Given the description of an element on the screen output the (x, y) to click on. 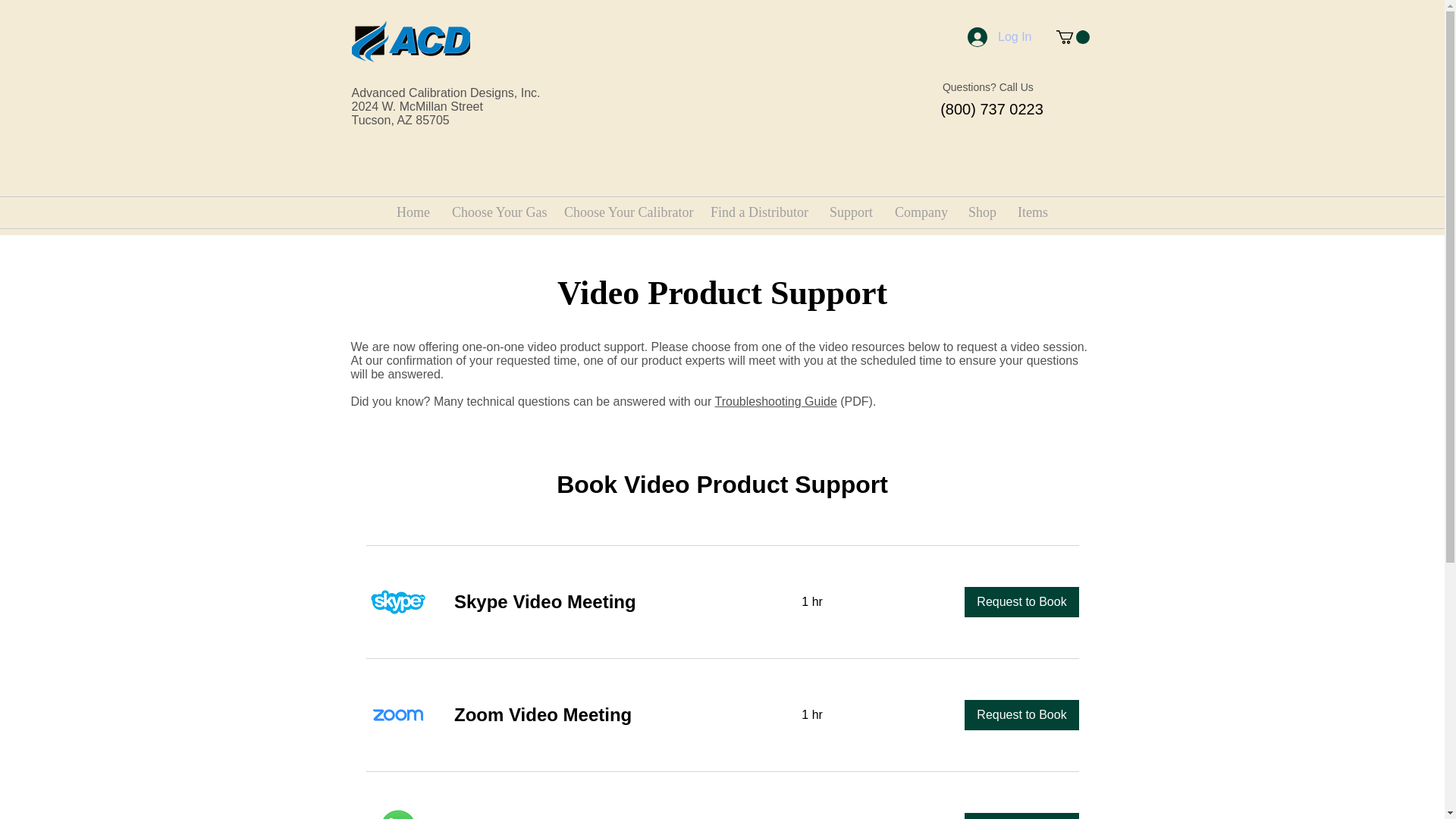
Log In (999, 36)
Find a Distributor (758, 212)
Shop (981, 212)
Skype Video Meeting (608, 601)
Troubleshooting Guide (774, 400)
Items (1032, 212)
Home (413, 212)
